Given the description of an element on the screen output the (x, y) to click on. 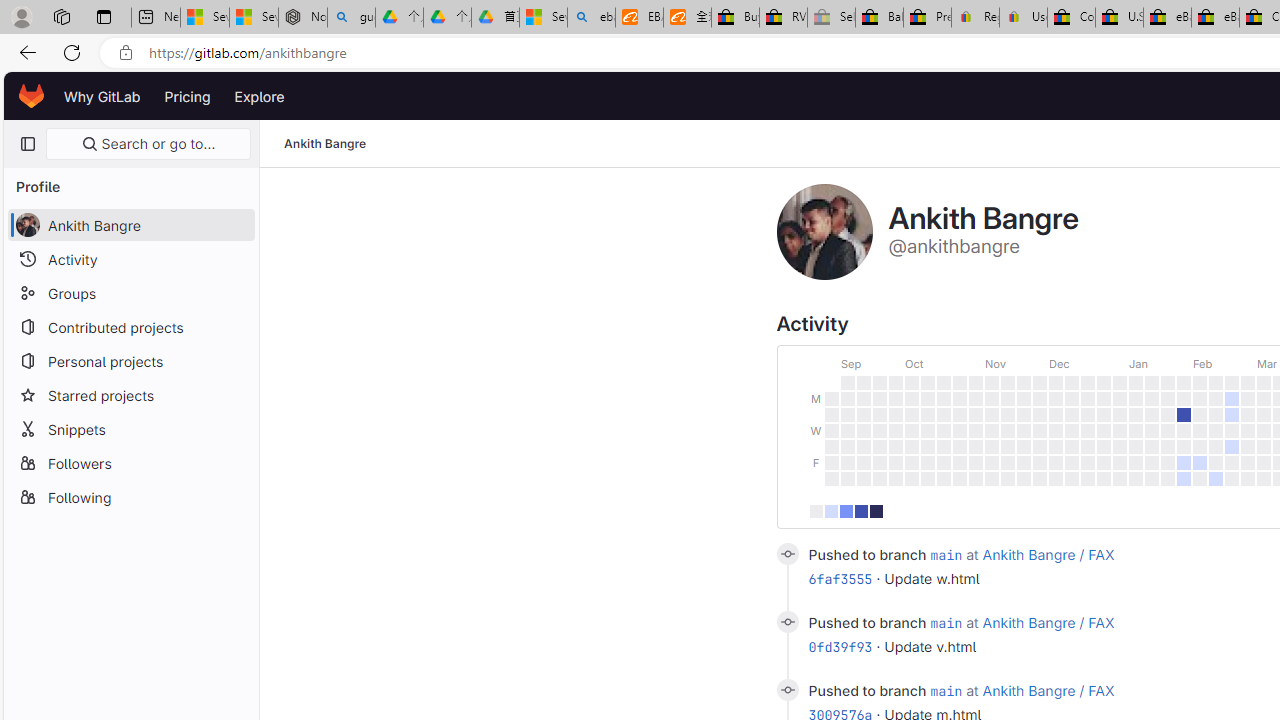
1-9 contributions (831, 510)
Ankith Bangre / FAX (1047, 690)
20-29 contributions (860, 510)
avatar (27, 224)
